Given the description of an element on the screen output the (x, y) to click on. 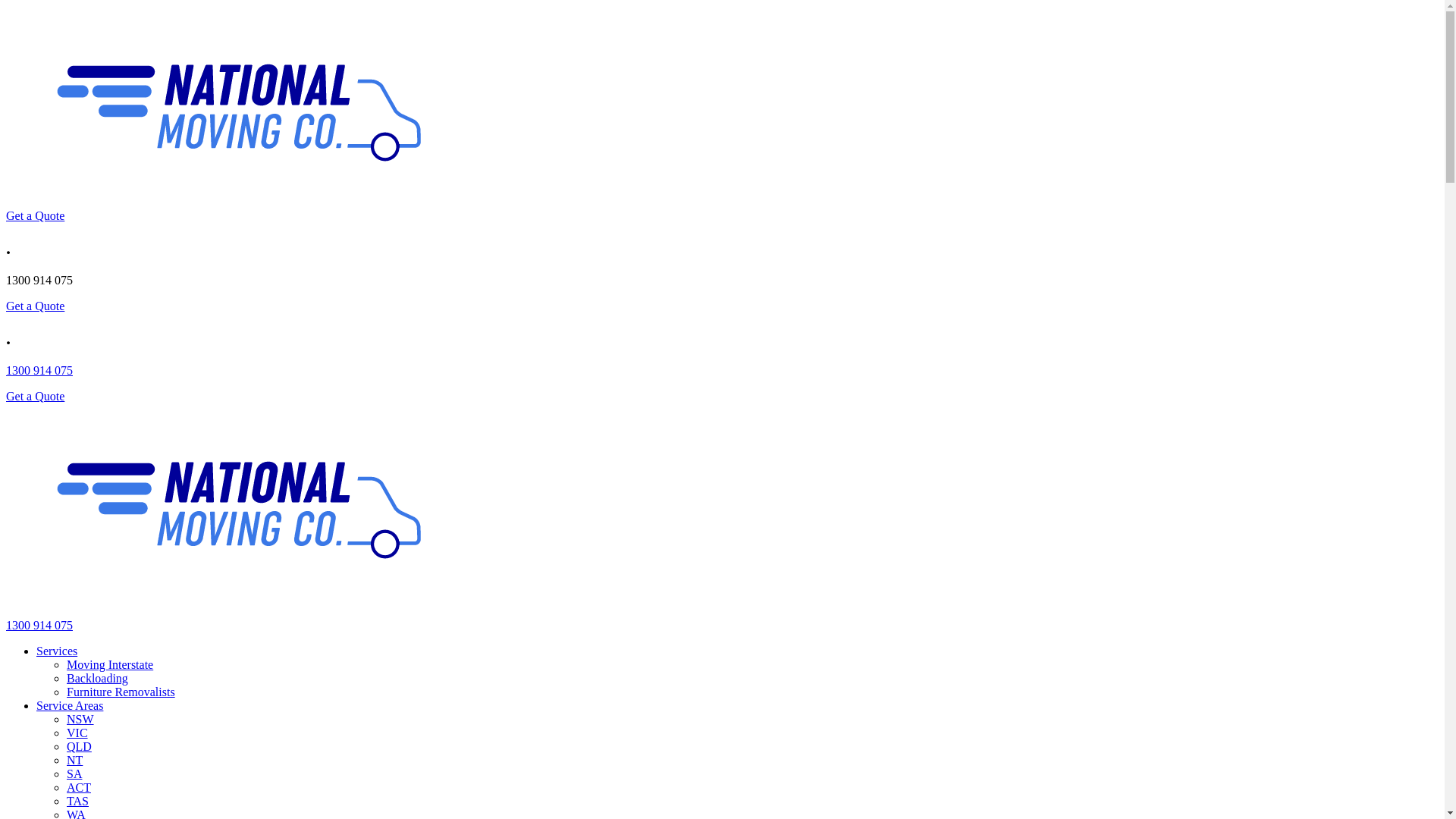
NSW Element type: text (80, 718)
QLD Element type: text (78, 746)
Moving Interstate Element type: text (109, 664)
1300 914 075 Element type: text (39, 624)
TAS Element type: text (77, 800)
1300 914 075 Element type: text (39, 370)
Get a Quote Element type: text (35, 395)
SA Element type: text (73, 773)
Services Element type: text (56, 650)
Get a Quote Element type: text (35, 215)
Get a Quote Element type: text (35, 305)
NT Element type: text (74, 759)
Backloading Element type: text (97, 677)
ACT Element type: text (78, 787)
VIC Element type: text (76, 732)
Furniture Removalists Element type: text (120, 691)
Service Areas Element type: text (69, 705)
